Given the description of an element on the screen output the (x, y) to click on. 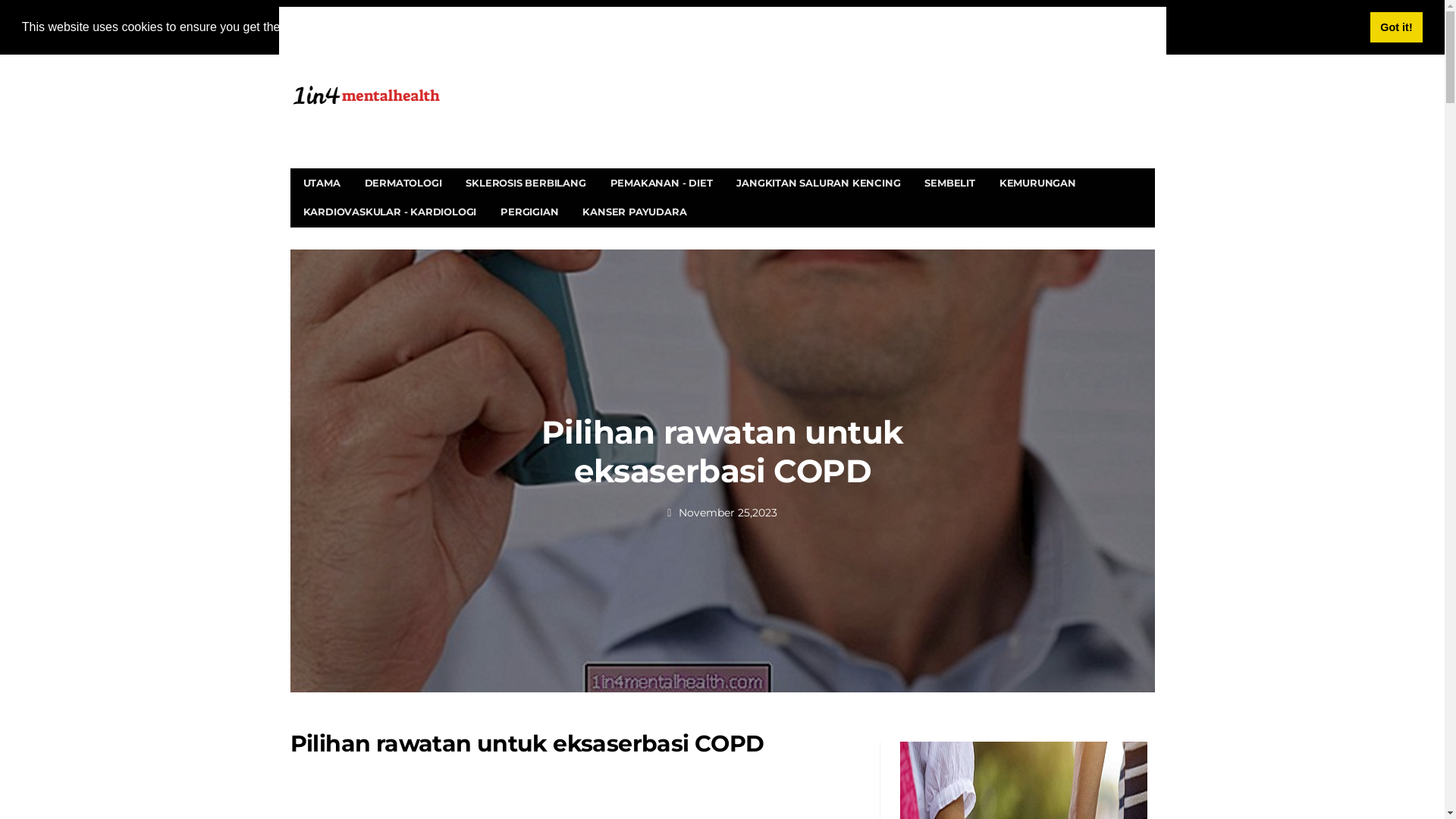
SEMBELIT Element type: text (949, 182)
Learn more Element type: text (491, 26)
UTAMA Element type: text (321, 182)
JANGKITAN SALURAN KENCING Element type: text (818, 182)
KANSER PAYUDARA Element type: text (634, 211)
DERMATOLOGI Element type: text (402, 182)
PEMAKANAN - DIET Element type: text (661, 182)
KEMURUNGAN Element type: text (1037, 182)
KARDIOVASKULAR - KARDIOLOGI Element type: text (390, 211)
SKLEROSIS BERBILANG Element type: text (525, 182)
Got it! Element type: text (1396, 27)
PERGIGIAN Element type: text (529, 211)
